Given the description of an element on the screen output the (x, y) to click on. 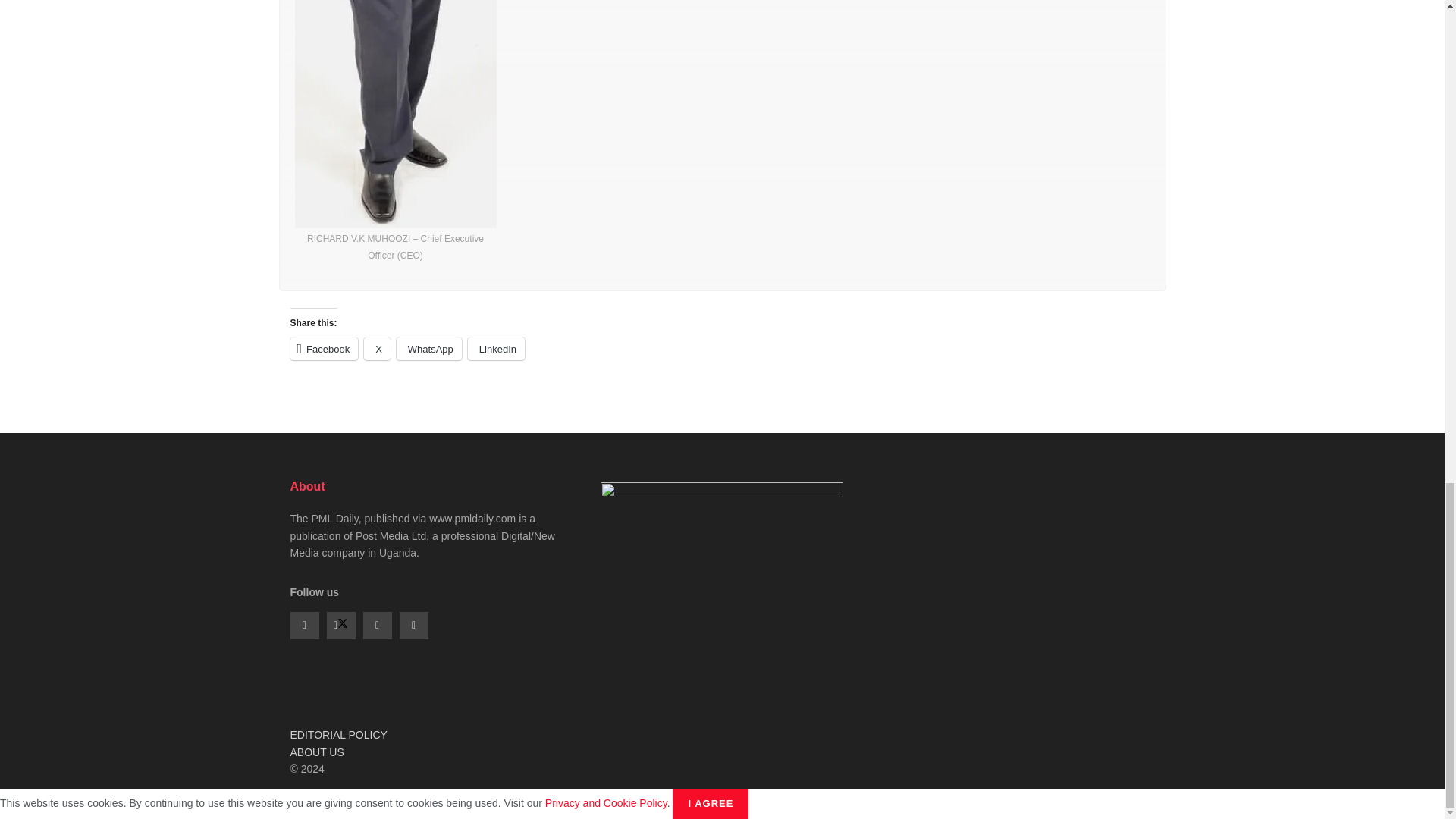
Click to share on Facebook (323, 348)
Click to share on WhatsApp (428, 348)
Click to share on LinkedIn (495, 348)
Click to share on X (377, 348)
